Given the description of an element on the screen output the (x, y) to click on. 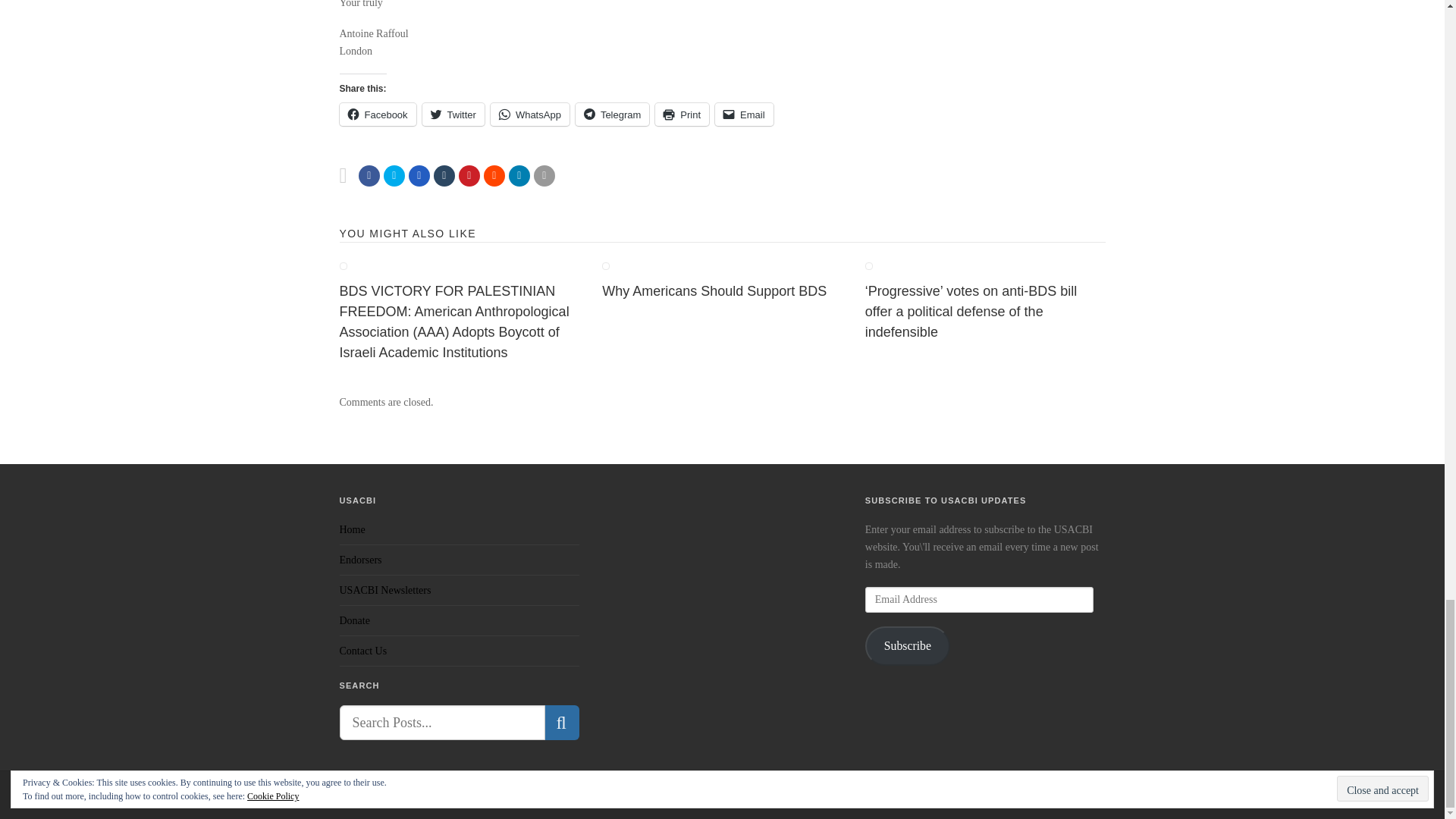
Tweet (394, 175)
Click to share on Twitter (453, 114)
Share on Facebook (369, 175)
Click to email a link to a friend (743, 114)
Click to share on Telegram (612, 114)
Click to share on WhatsApp (529, 114)
Submit to Reddit (494, 175)
Post to Tumblr (443, 175)
Pin it (469, 175)
Click to share on Facebook (377, 114)
